Given the description of an element on the screen output the (x, y) to click on. 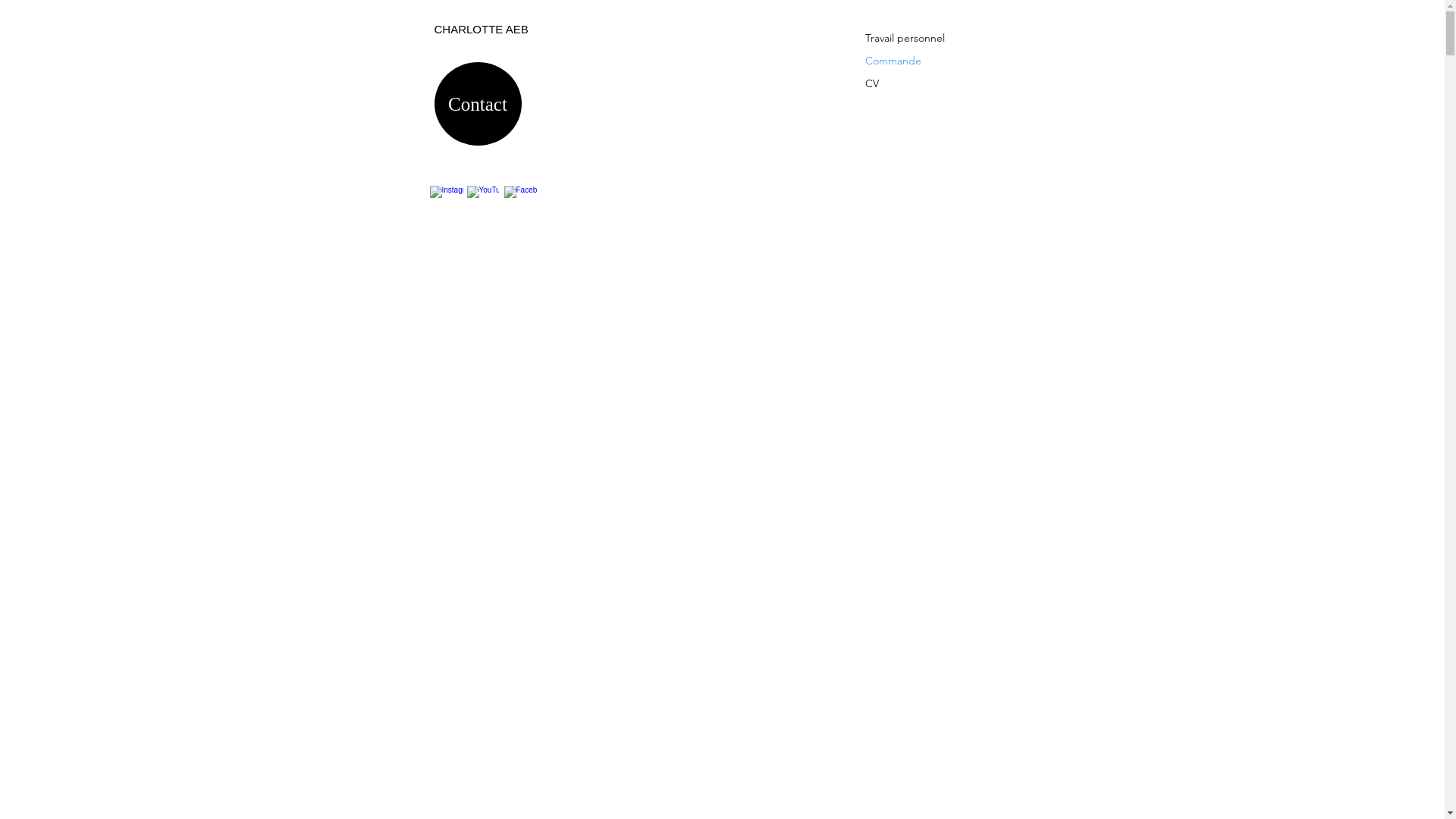
CV Element type: text (907, 83)
Contact Element type: text (476, 103)
Commande Element type: text (907, 60)
Travail personnel Element type: text (907, 37)
